Given the description of an element on the screen output the (x, y) to click on. 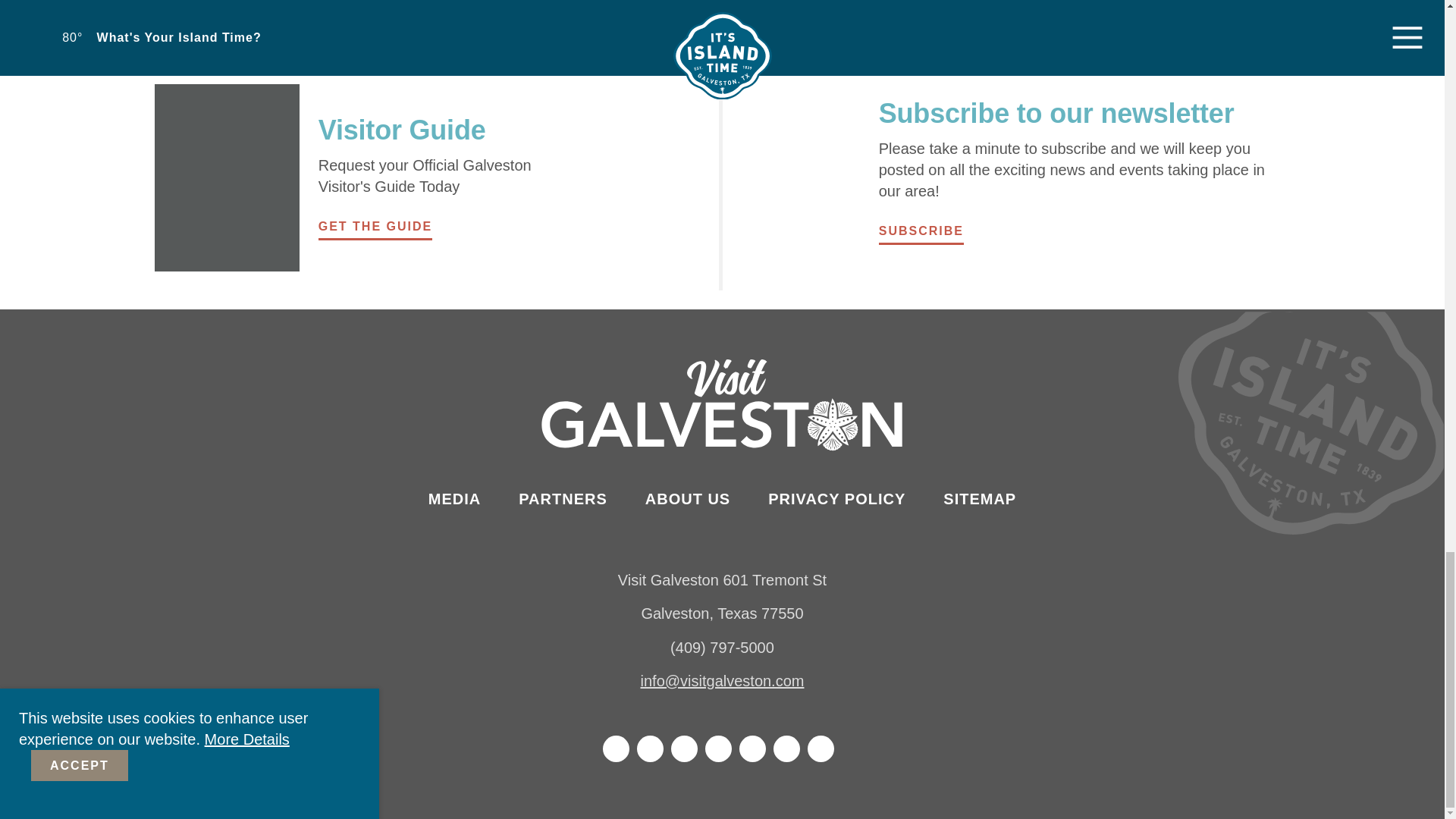
SITEMAP (979, 498)
SUBSCRIBE (921, 232)
Twitter (684, 748)
ABOUT US (687, 498)
Facebook (615, 748)
GET THE GUIDE (375, 228)
MEDIA (454, 498)
PARTNERS (562, 498)
Instagram (650, 748)
PRIVACY POLICY (836, 498)
